Given the description of an element on the screen output the (x, y) to click on. 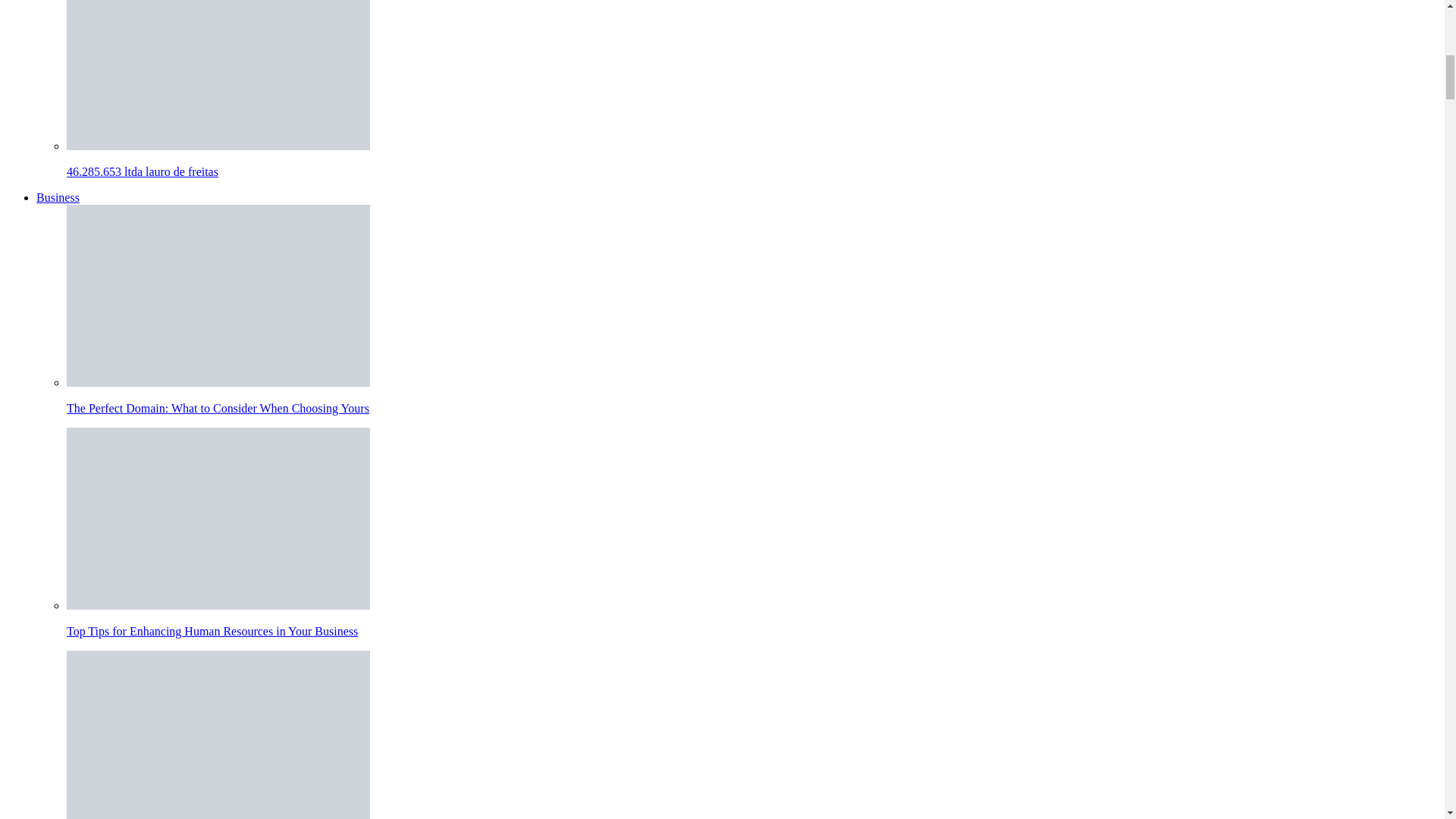
Top Tips for Enhancing Human Resources in Your Business 5 (217, 518)
Business (58, 196)
The Perfect Domain: What to Consider When Choosing Yours 4 (217, 295)
46.285.653 ltda lauro de freitas 3 (217, 74)
